Given the description of an element on the screen output the (x, y) to click on. 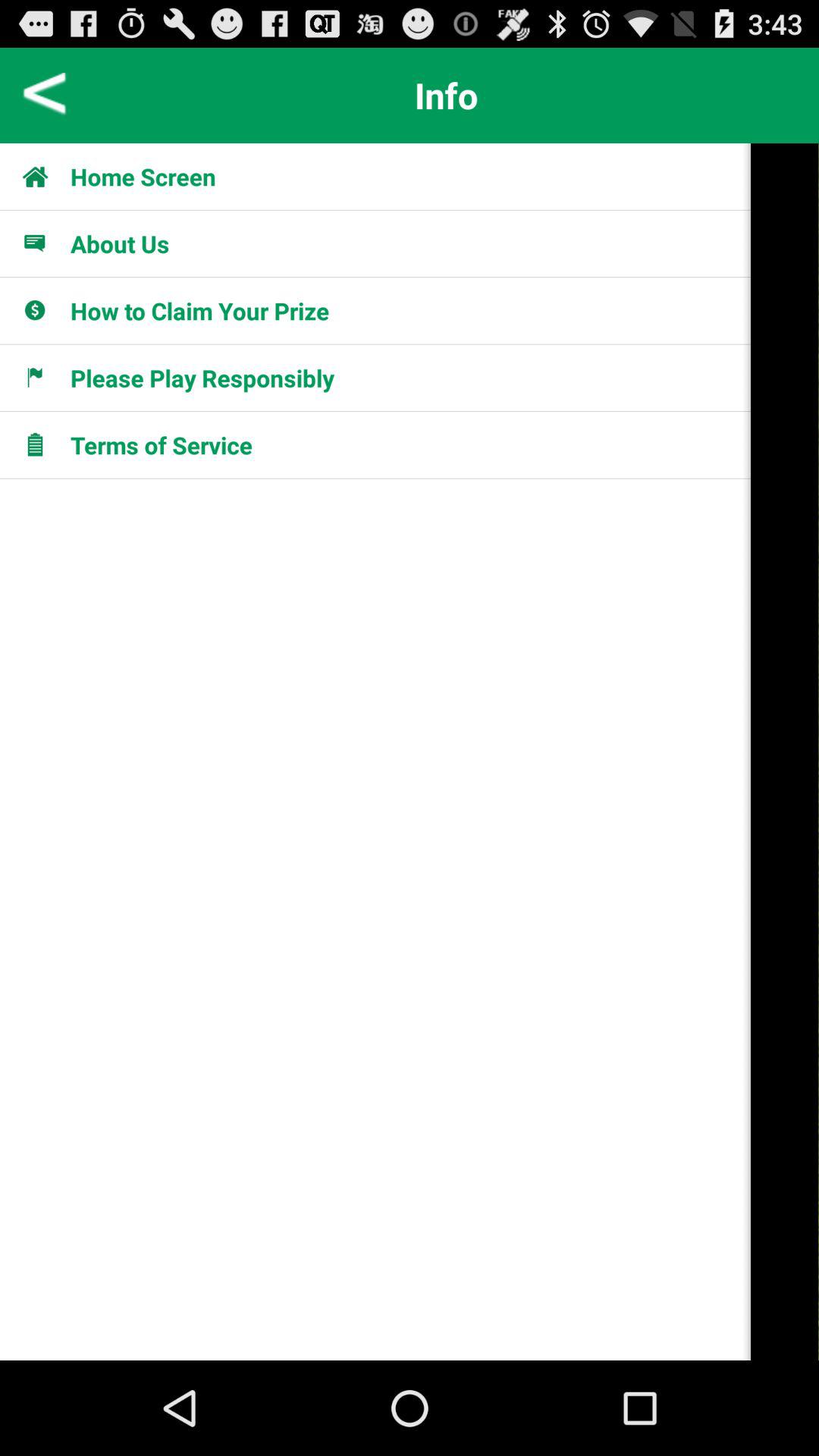
open the icon below the how to claim app (202, 377)
